Given the description of an element on the screen output the (x, y) to click on. 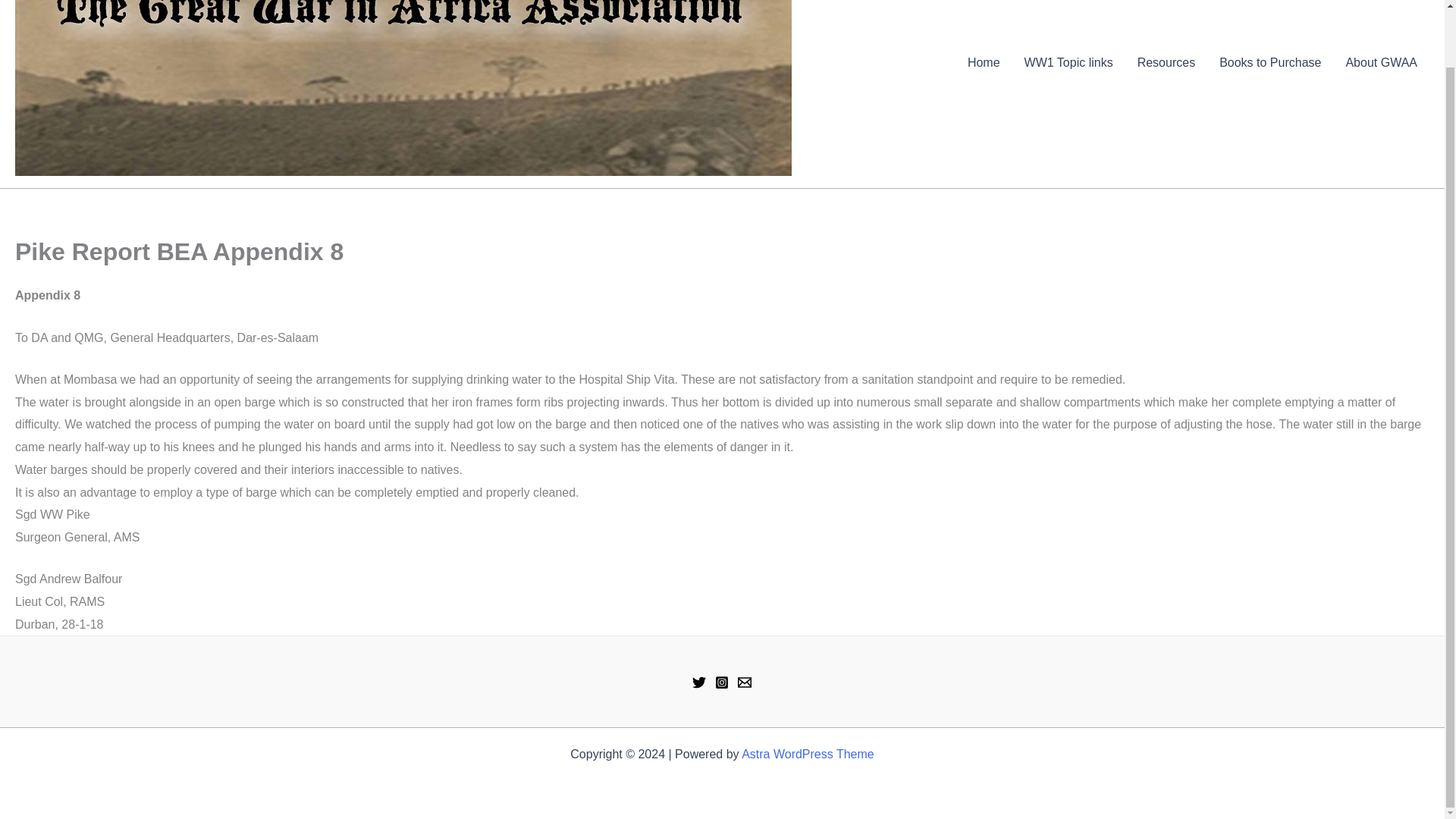
Books to Purchase (1270, 62)
Home (983, 62)
Resources (1166, 62)
WW1 Topic links (1068, 62)
About GWAA (1381, 62)
